Given the description of an element on the screen output the (x, y) to click on. 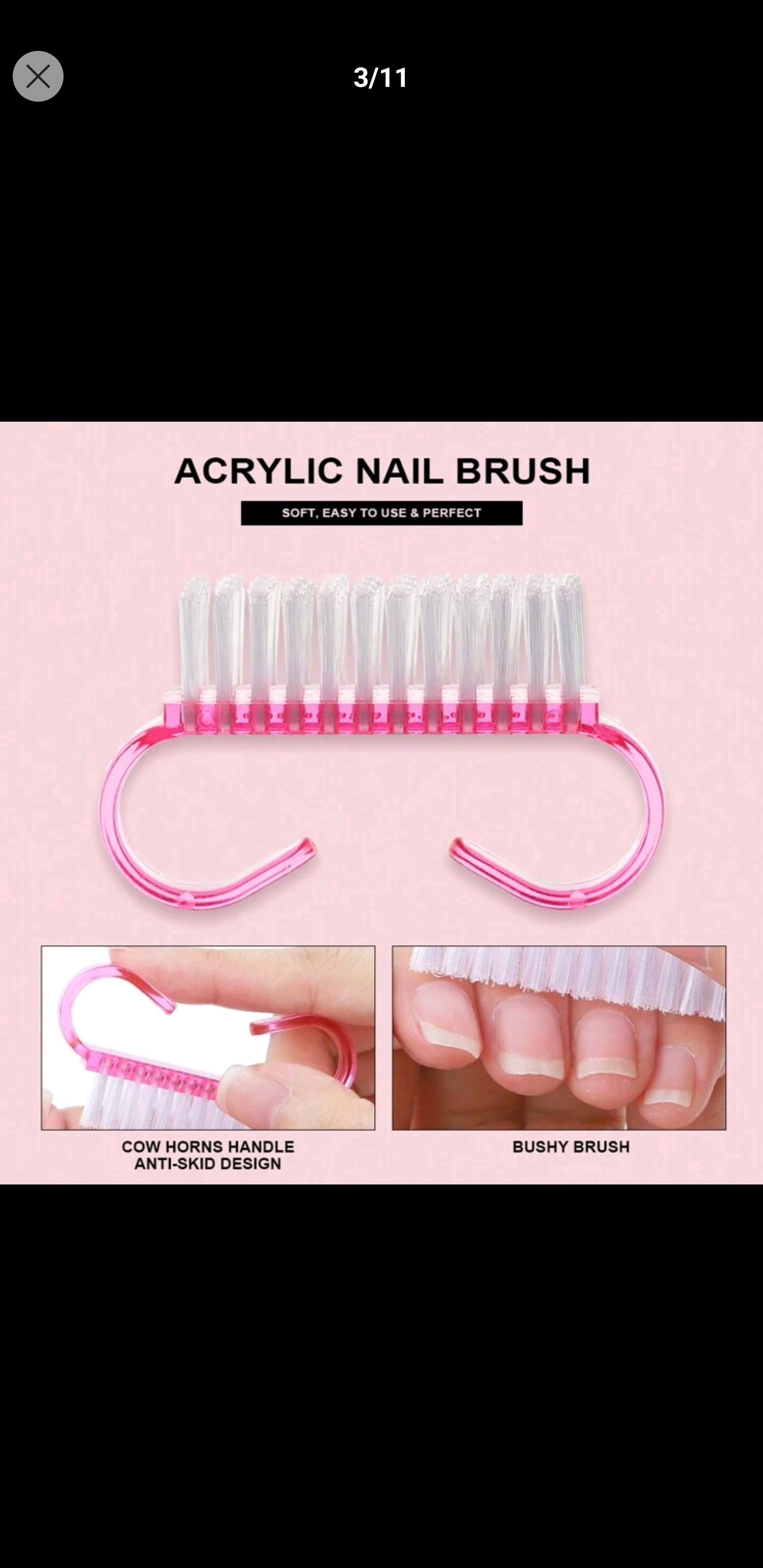
BACK (38, 75)
